Given the description of an element on the screen output the (x, y) to click on. 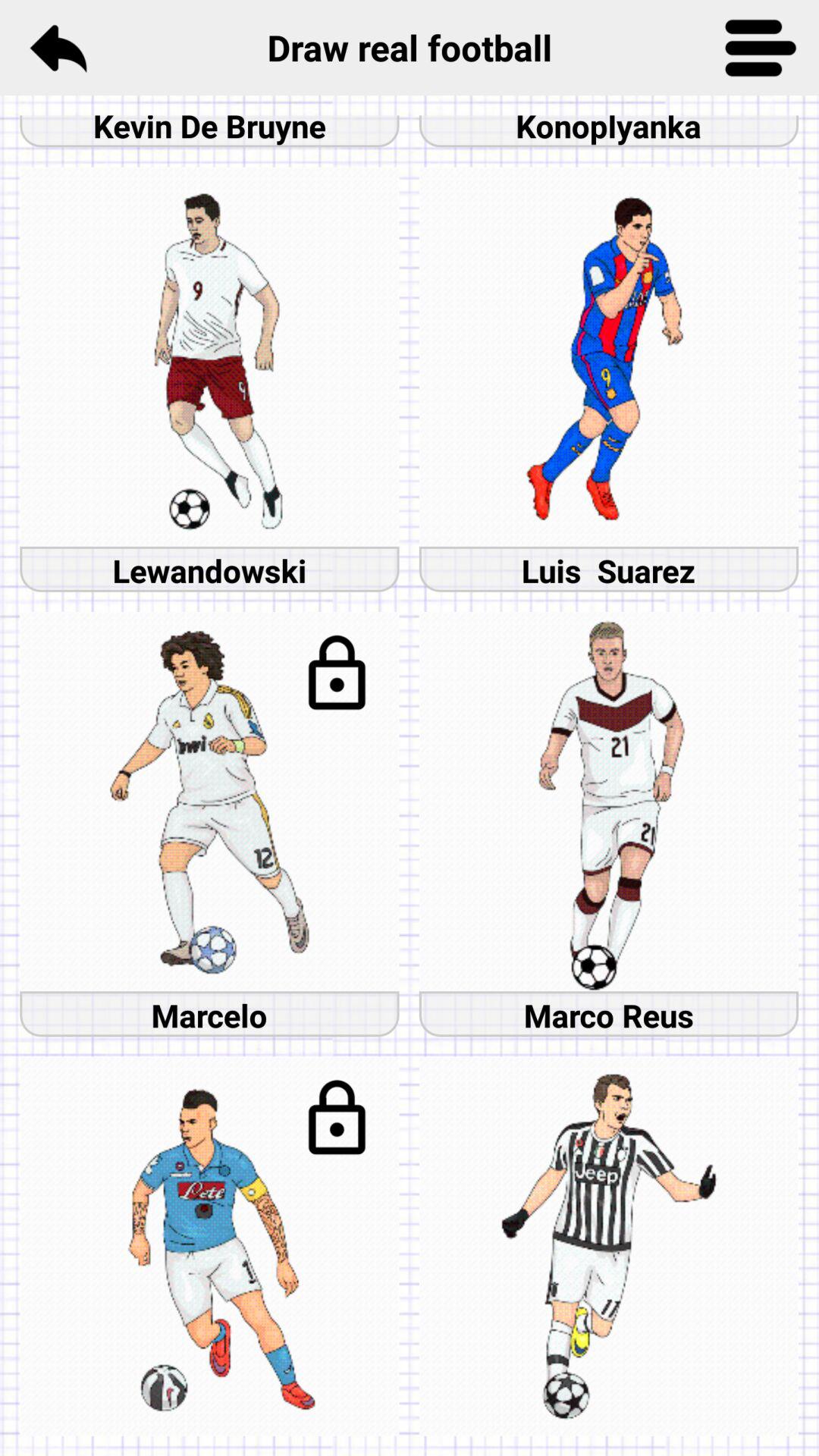
choose the item next to the draw real football (760, 47)
